Given the description of an element on the screen output the (x, y) to click on. 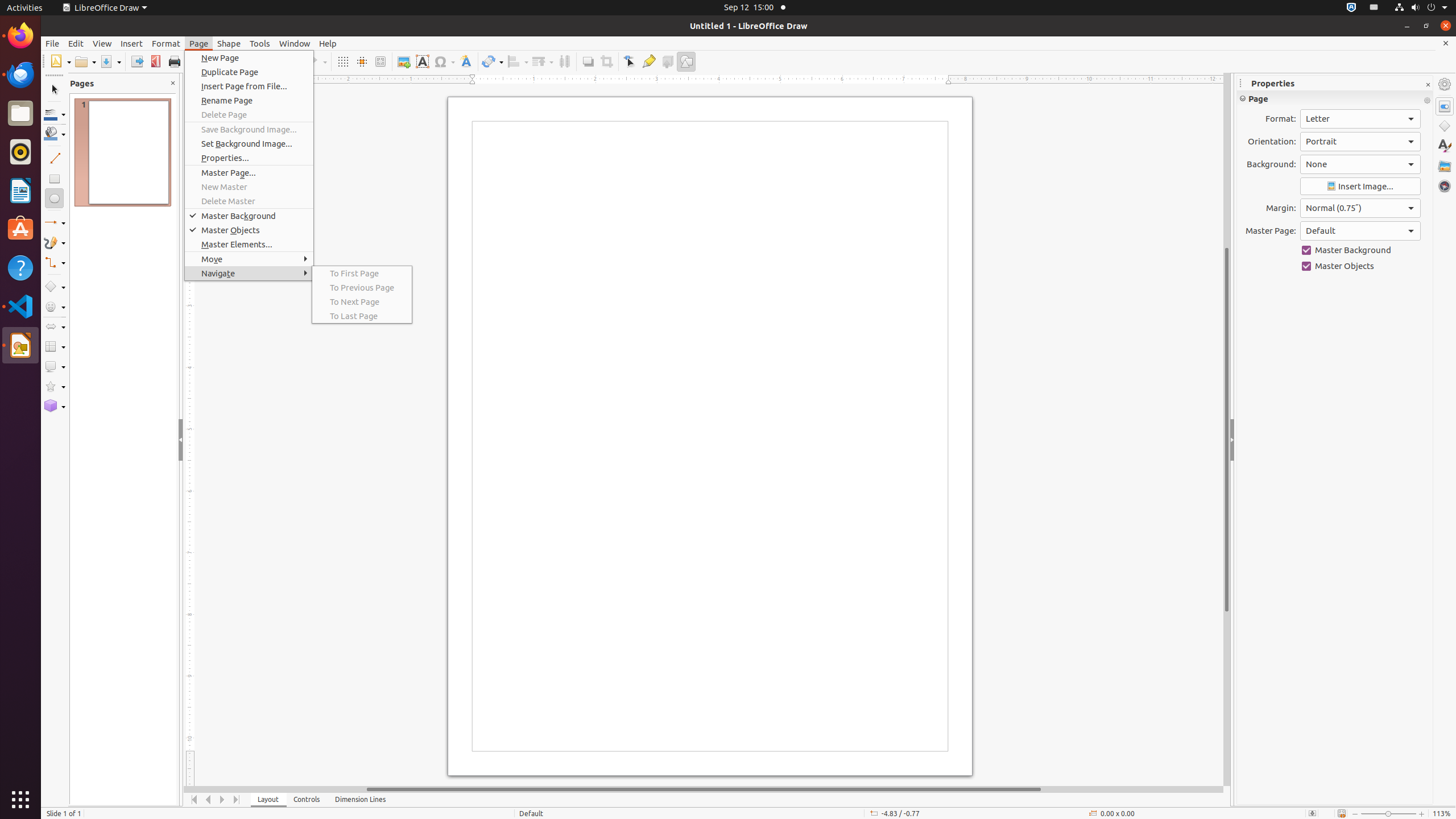
Edit Element type: menu (75, 43)
Master Page... Element type: menu-item (248, 172)
Properties Element type: radio-button (1444, 106)
Move To End Element type: push-button (236, 799)
Move Element type: menu (248, 258)
